Given the description of an element on the screen output the (x, y) to click on. 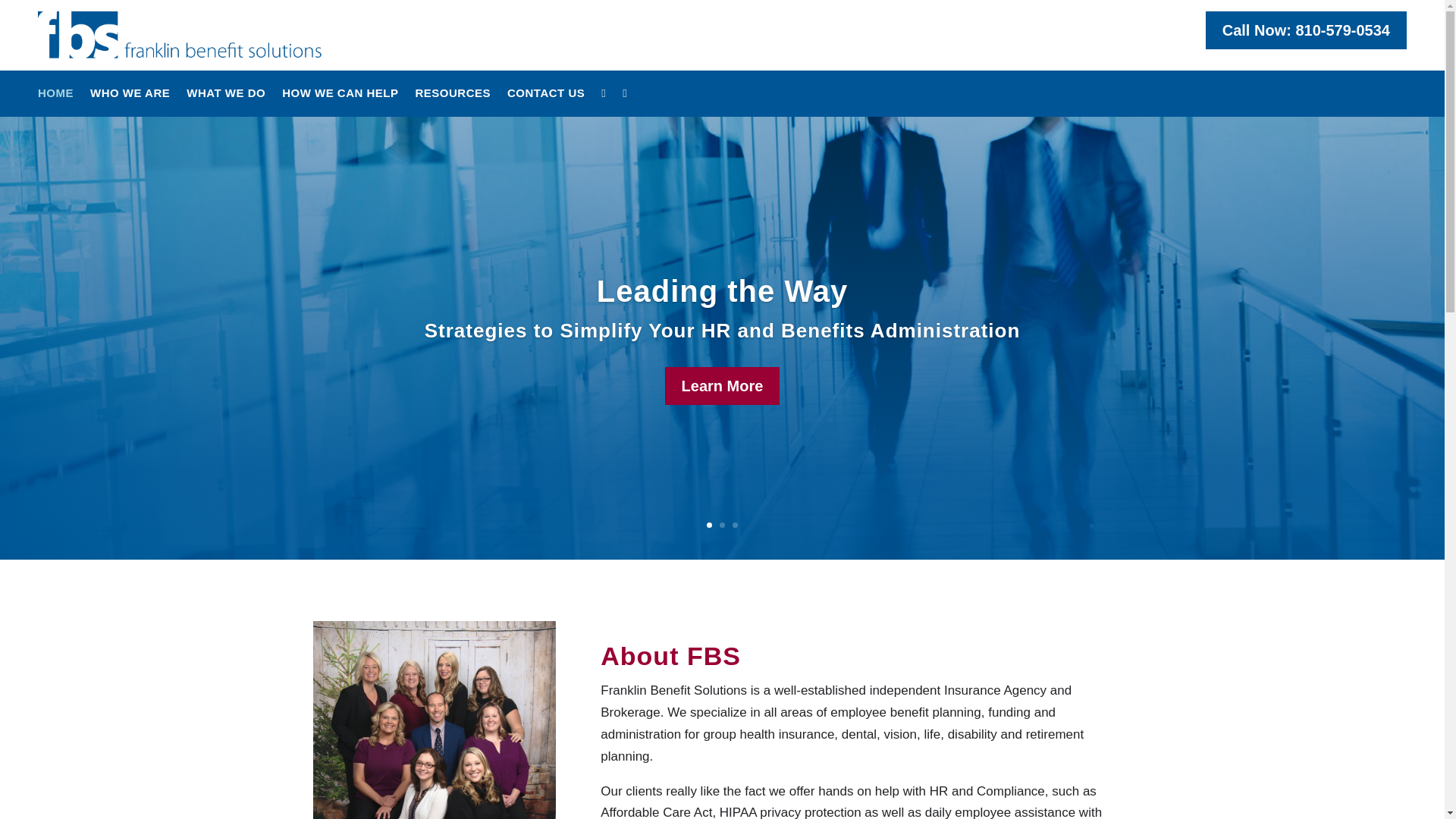
WHAT WE DO (225, 96)
Call Now: 810-579-0534 (1305, 30)
HOME (55, 96)
WHO WE ARE (130, 96)
HOW WE CAN HELP (339, 96)
RESOURCES (452, 96)
CONTACT US (545, 96)
